Given the description of an element on the screen output the (x, y) to click on. 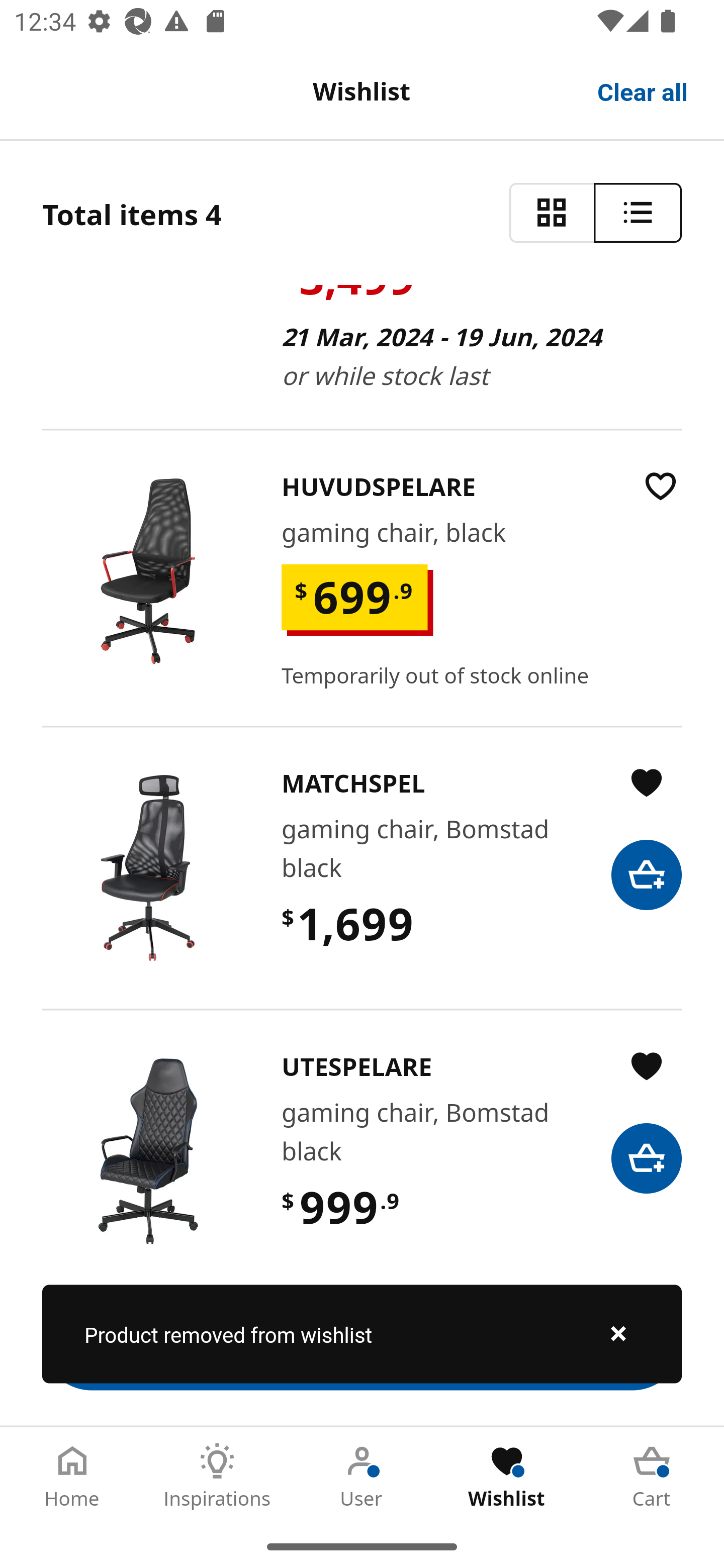
Clear all (643, 90)
Product removed from wishlist (361, 1333)
Home
Tab 1 of 5 (72, 1476)
Inspirations
Tab 2 of 5 (216, 1476)
User
Tab 3 of 5 (361, 1476)
Wishlist
Tab 4 of 5 (506, 1476)
Cart
Tab 5 of 5 (651, 1476)
